Given the description of an element on the screen output the (x, y) to click on. 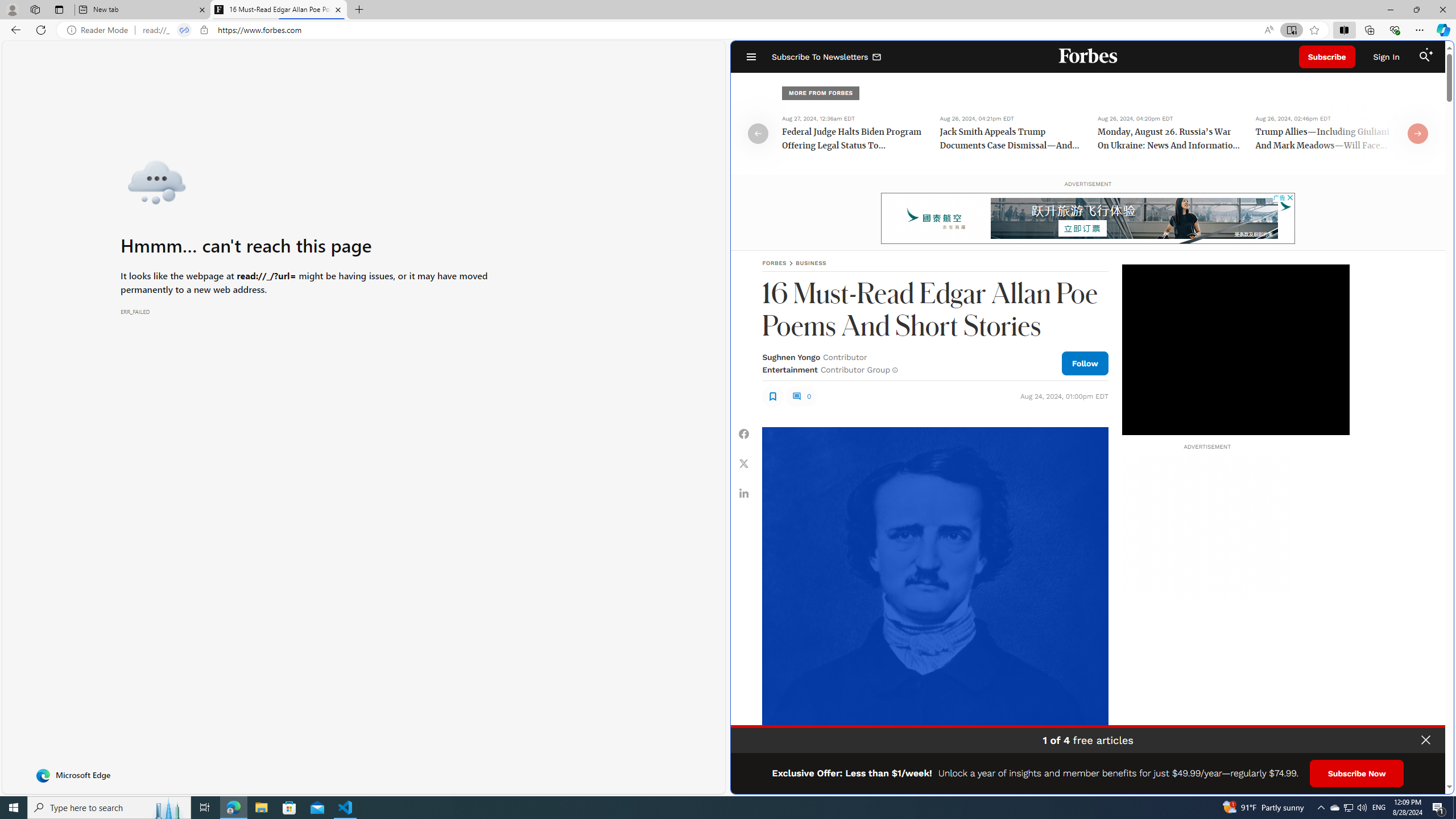
Follow Author (1084, 363)
BUSINESS (810, 262)
FORBES (774, 262)
Class: close-button unbutton (1425, 740)
Sughnen Yongo (790, 356)
Terms (1434, 781)
Arrow Left (758, 133)
Sign In (1386, 56)
